Given the description of an element on the screen output the (x, y) to click on. 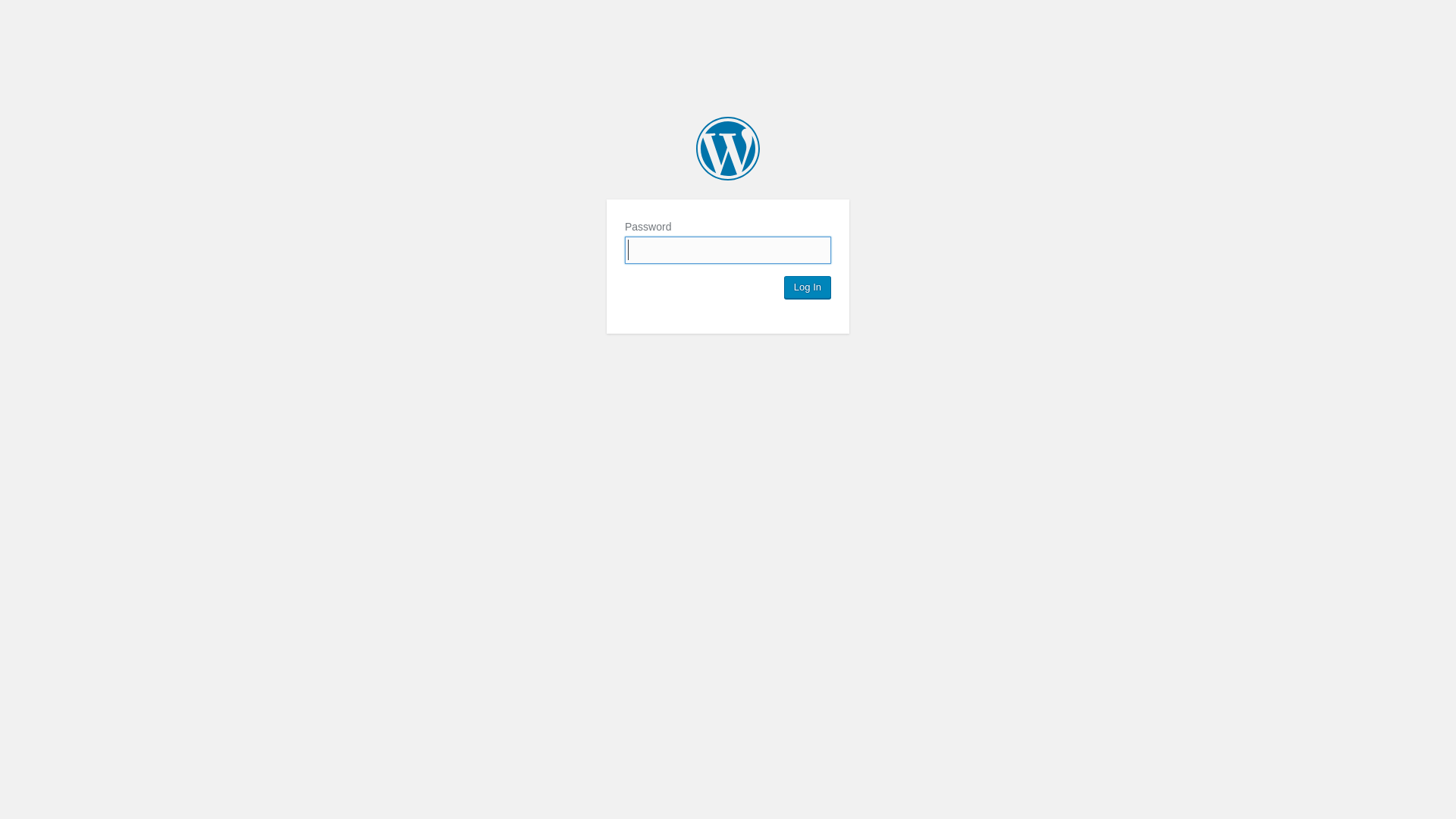
Log In Element type: text (807, 287)
AMM Institute Element type: text (727, 148)
